Given the description of an element on the screen output the (x, y) to click on. 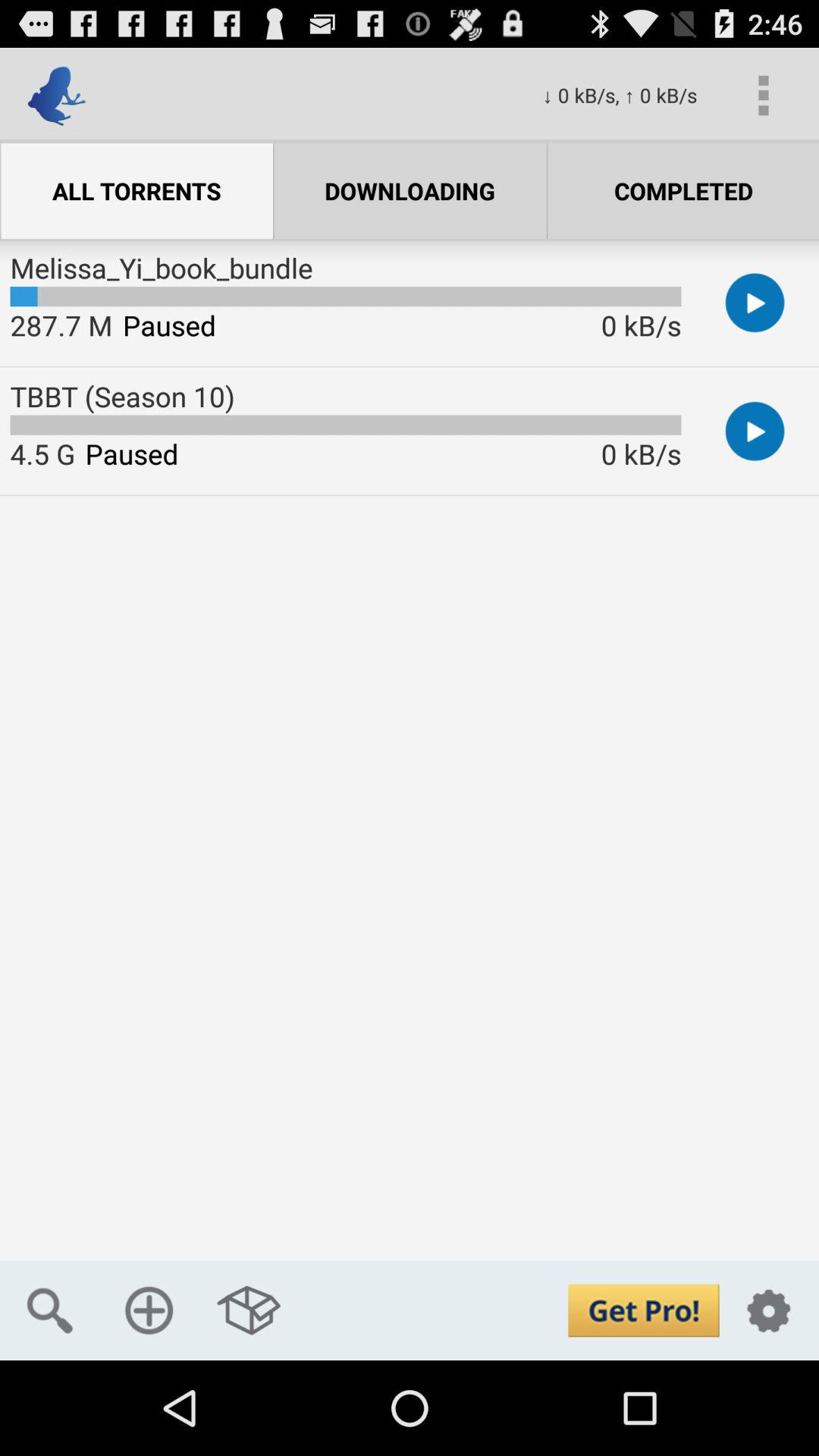
turn off app below paused (149, 1310)
